Given the description of an element on the screen output the (x, y) to click on. 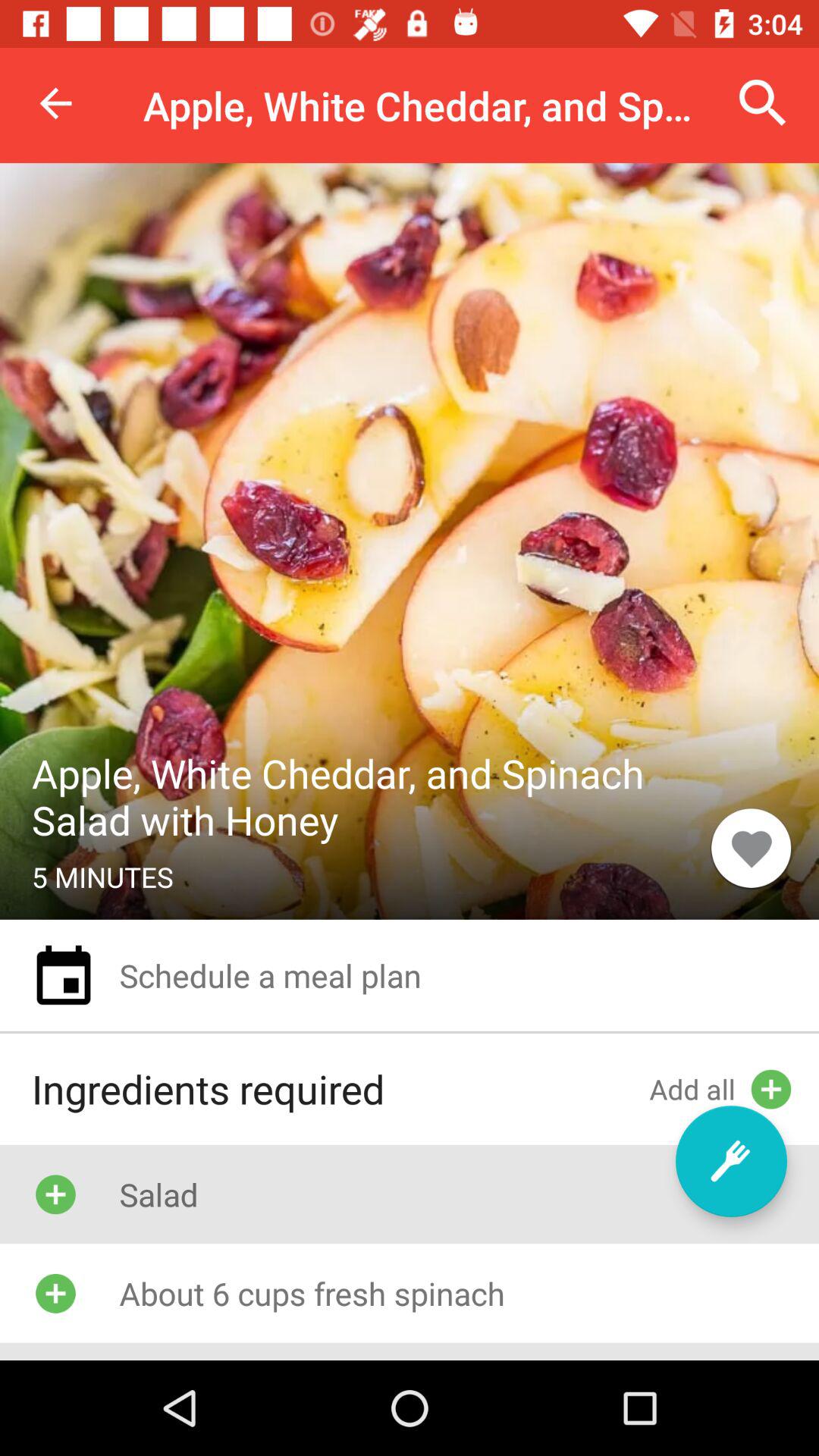
press the item to the left of the apple white cheddar icon (55, 103)
